Given the description of an element on the screen output the (x, y) to click on. 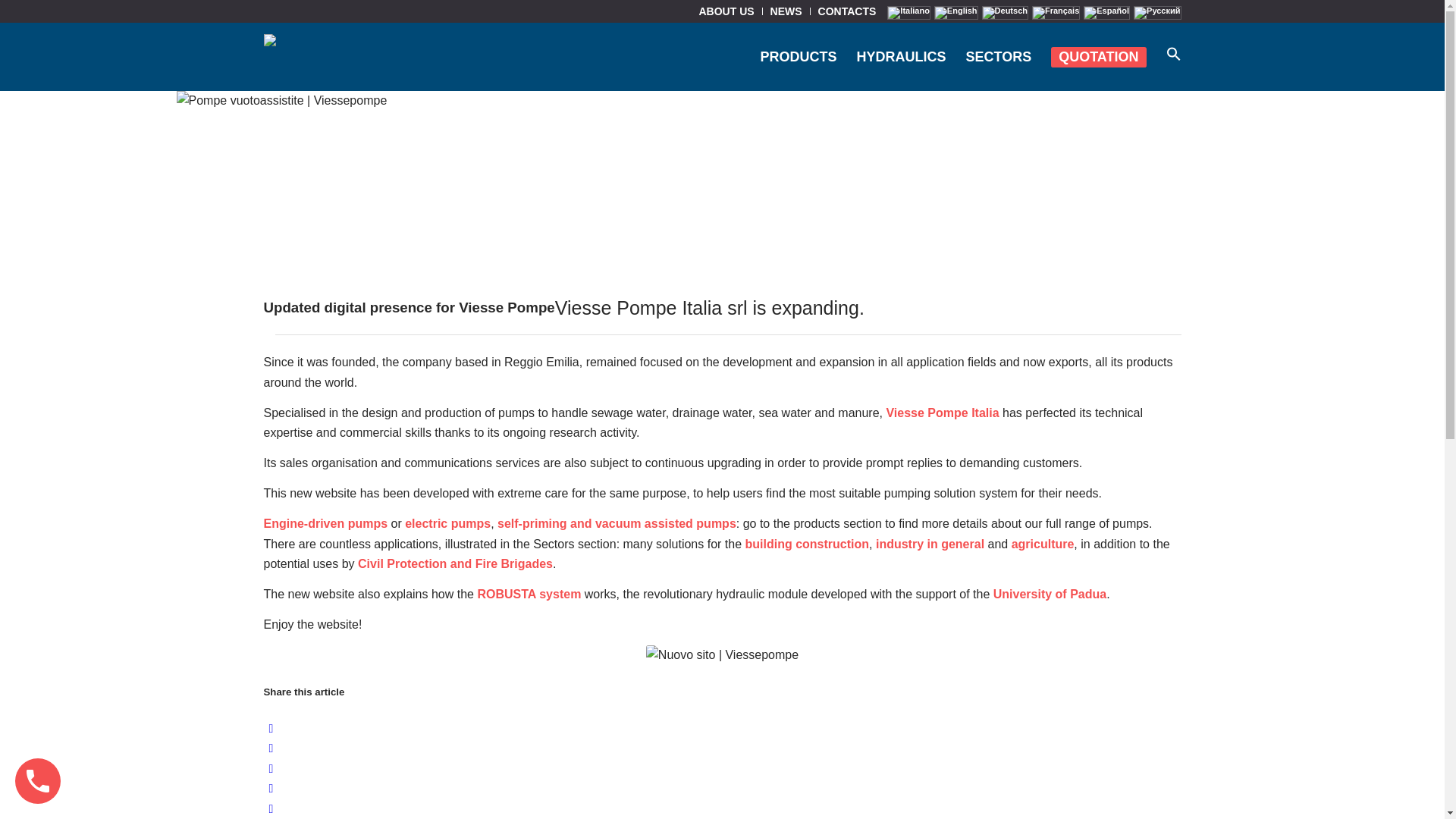
PRODUCTS (797, 56)
Italiano (908, 12)
SECTORS (998, 56)
CONTACTS (847, 11)
QUOTATION (1098, 56)
HYDRAULICS (900, 56)
Deutsch (1004, 12)
immagine-news-nuovo-sito (721, 655)
ABOUT US (726, 11)
English (956, 12)
NEWS (786, 11)
